Given the description of an element on the screen output the (x, y) to click on. 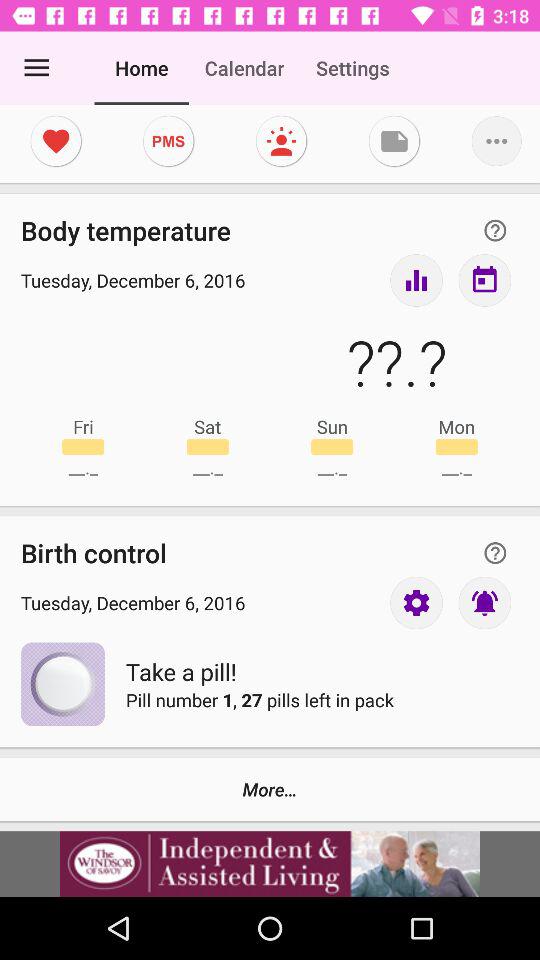
inbox button (484, 280)
